Given the description of an element on the screen output the (x, y) to click on. 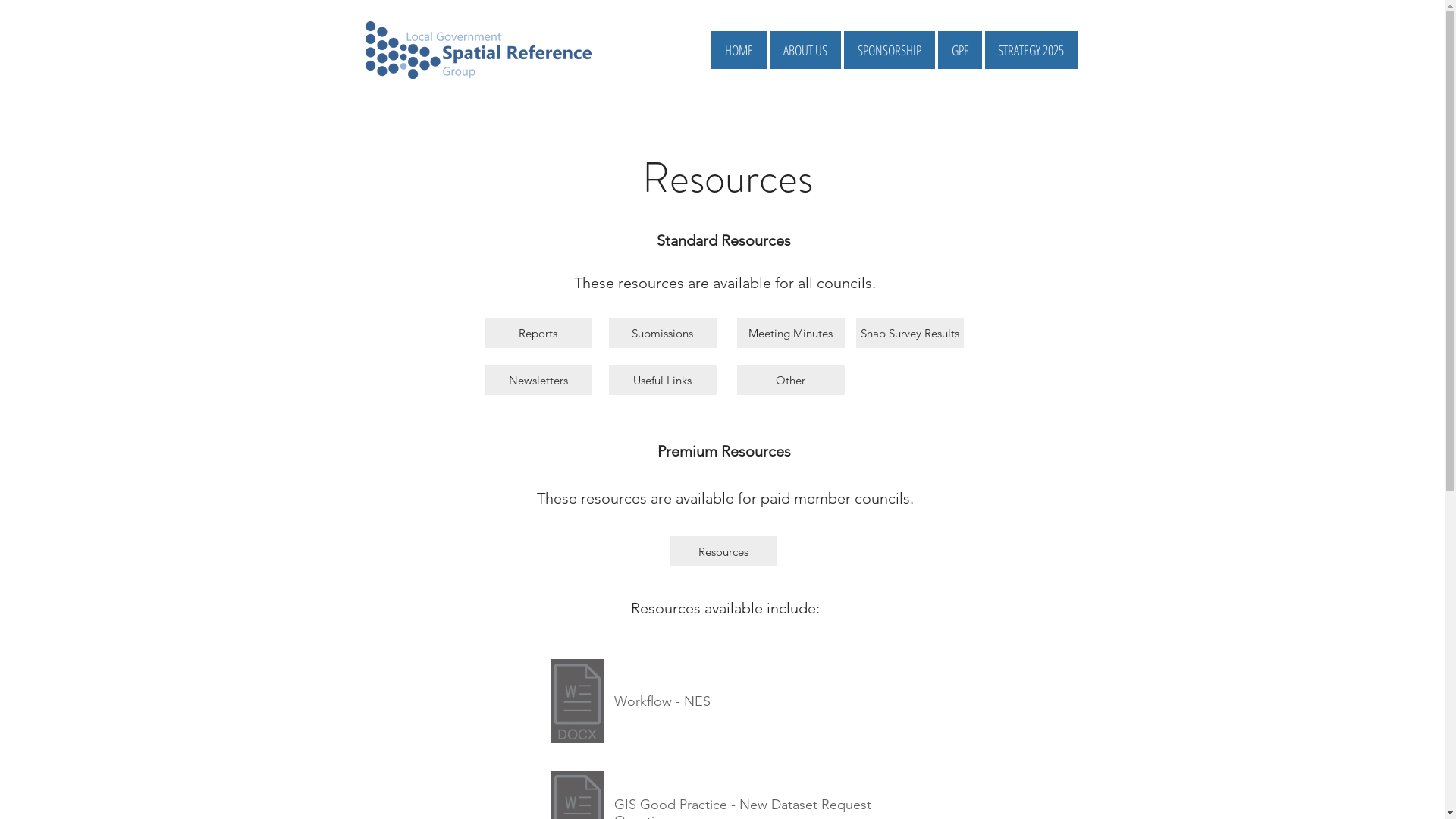
Other Element type: text (790, 379)
Useful Links Element type: text (661, 379)
HOME Element type: text (738, 50)
STRATEGY 2025 Element type: text (1030, 50)
Snap Survey Results Element type: text (909, 332)
ABOUT US Element type: text (804, 50)
Resources Element type: text (722, 551)
b105ec4f619343f1b5d7349c89796f07.png Element type: hover (577, 700)
Meeting Minutes Element type: text (790, 332)
Reports Element type: text (537, 332)
SPONSORSHIP Element type: text (888, 50)
Newsletters Element type: text (537, 379)
Submissions Element type: text (661, 332)
GPF Element type: text (959, 50)
